Given the description of an element on the screen output the (x, y) to click on. 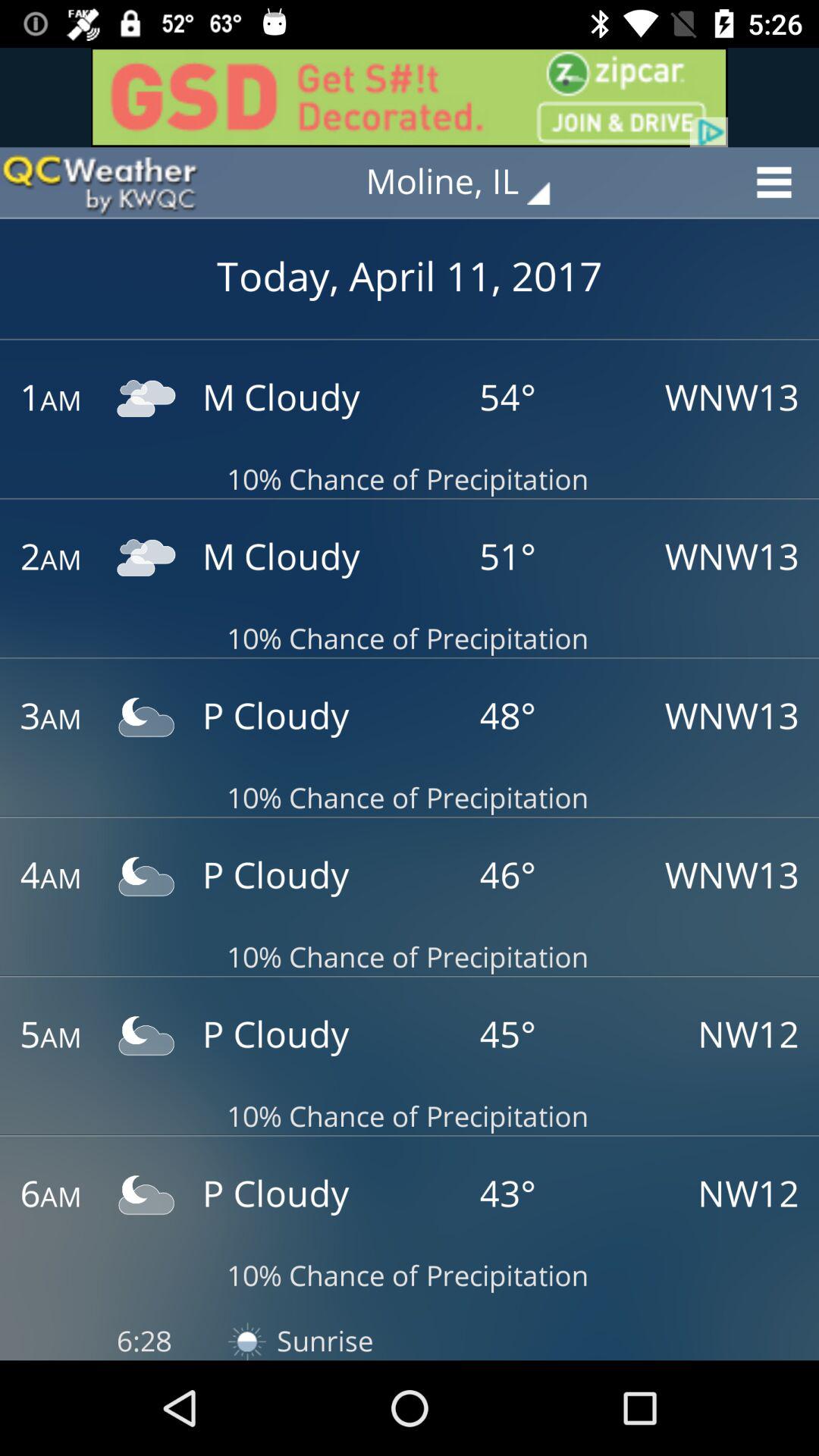
select advertisement (409, 97)
